Given the description of an element on the screen output the (x, y) to click on. 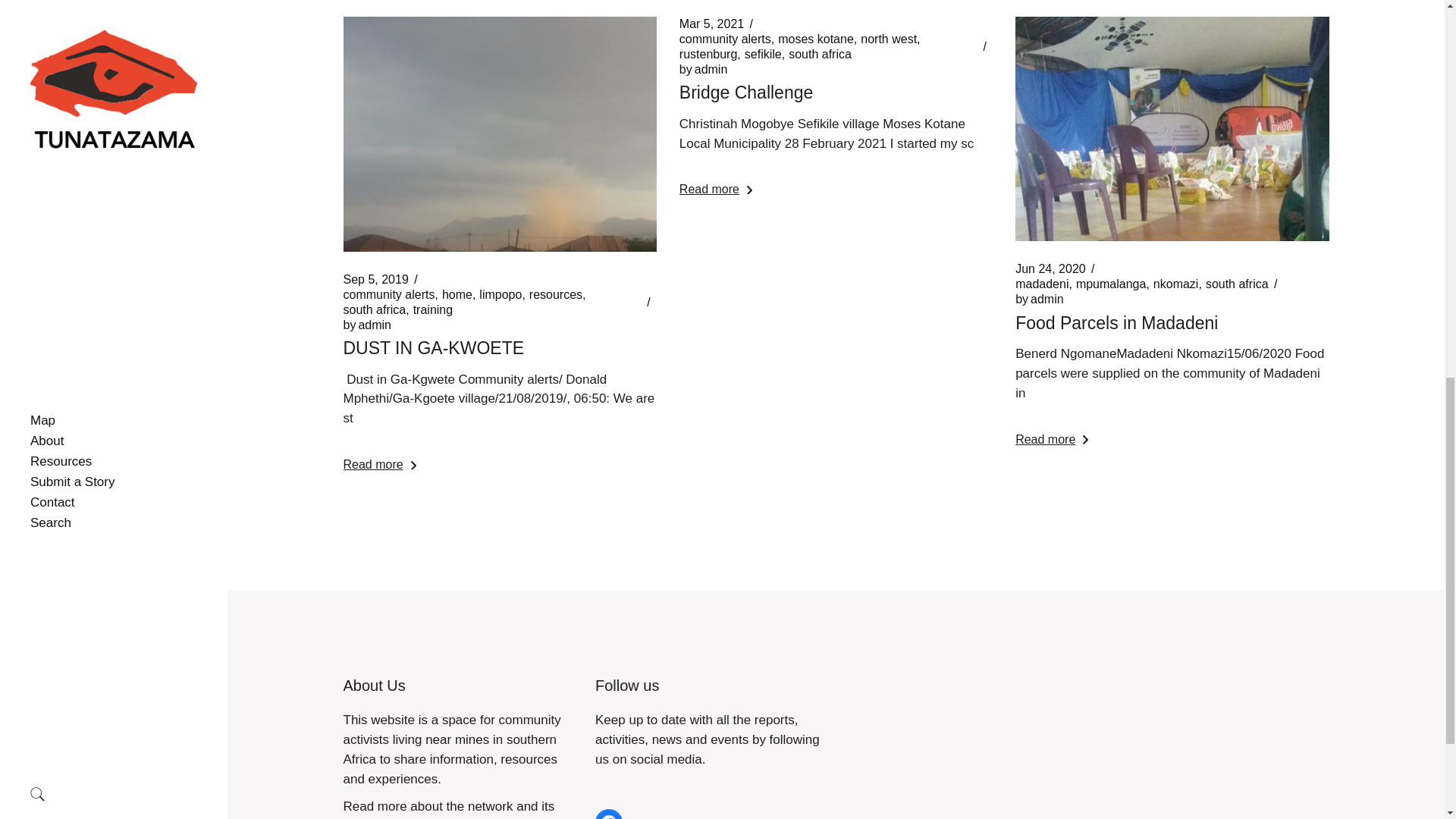
Mar 5, 2021 (711, 23)
Sep 5, 2019 (374, 279)
north west (888, 38)
limpopo (500, 294)
community alerts (725, 38)
Read more (378, 464)
resources (366, 324)
moses kotane (555, 294)
home (815, 38)
south africa (456, 294)
training (374, 309)
community alerts (432, 309)
DUST IN GA-KWOETE (387, 294)
